Given the description of an element on the screen output the (x, y) to click on. 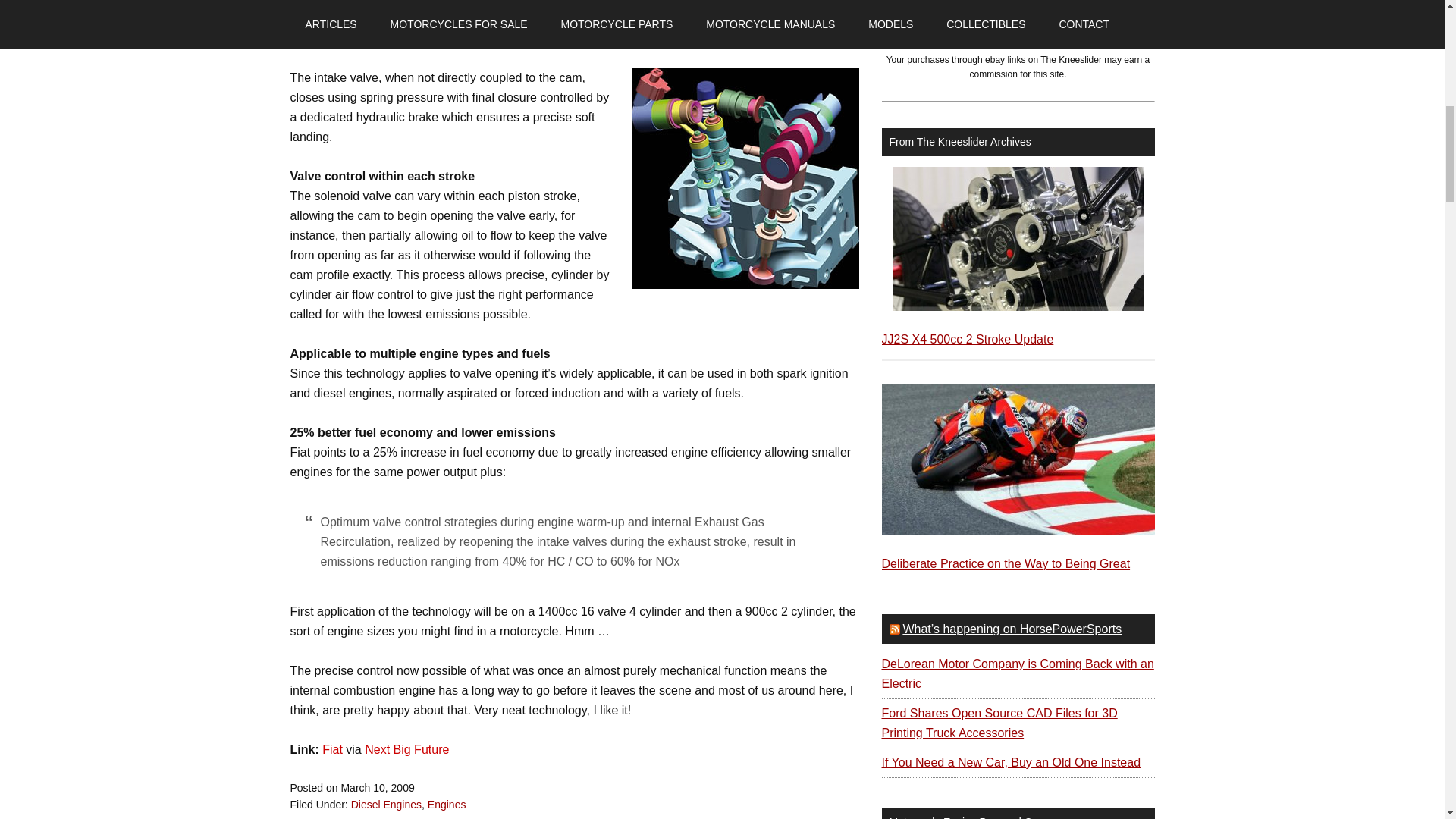
Next Big Future (406, 748)
Fiat (333, 748)
Diesel Engines (386, 804)
Fiat MultiAir Engine (744, 178)
Engines (446, 804)
